Given the description of an element on the screen output the (x, y) to click on. 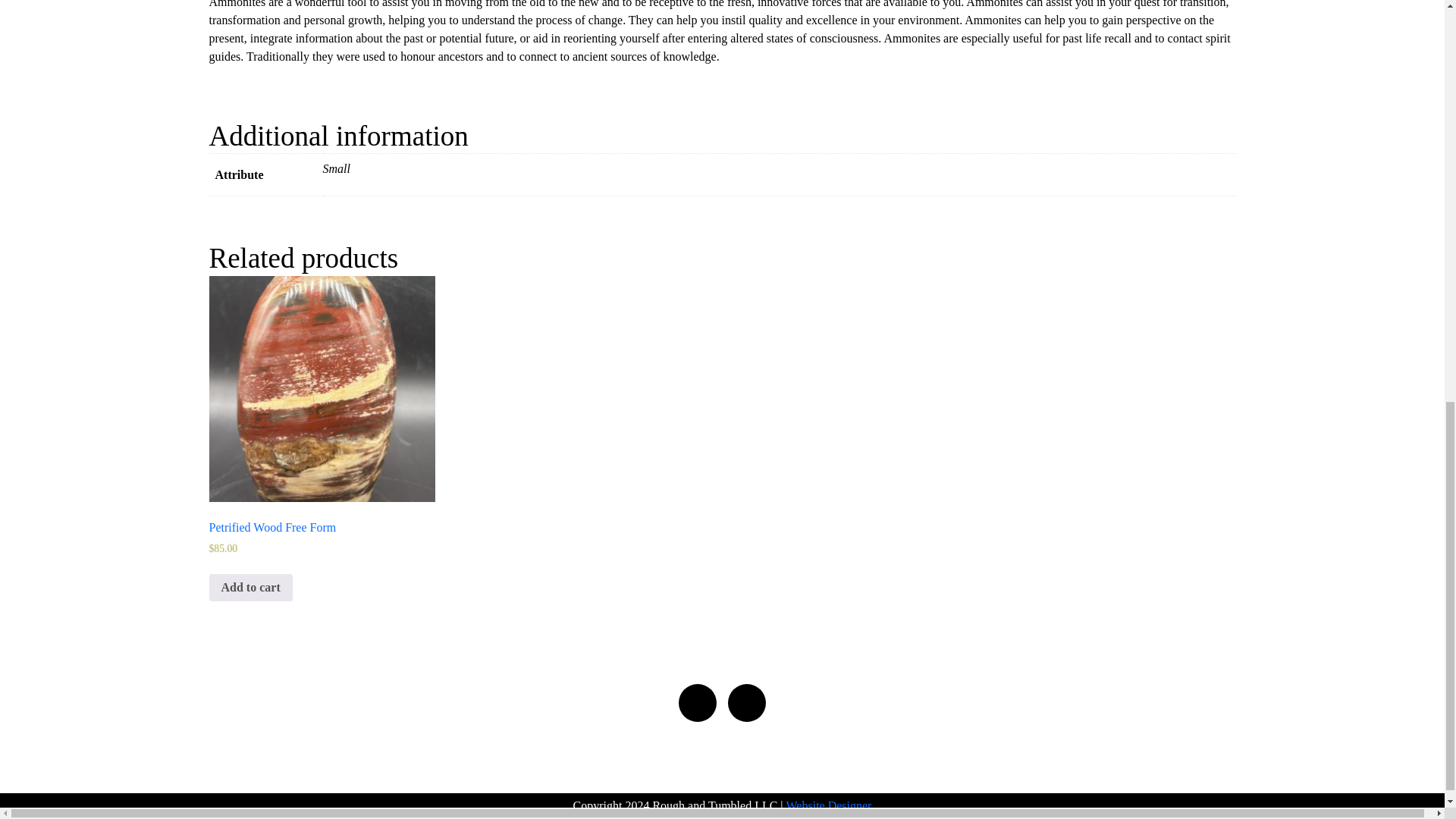
WHOLESALE (709, 770)
SHOP (633, 770)
HOME (495, 770)
Add to cart (250, 587)
Website Designer (829, 805)
CONTACT US (924, 770)
Web Designer Near Me (829, 805)
MY ACCOUNT (817, 770)
ABOUT US (566, 770)
